Given the description of an element on the screen output the (x, y) to click on. 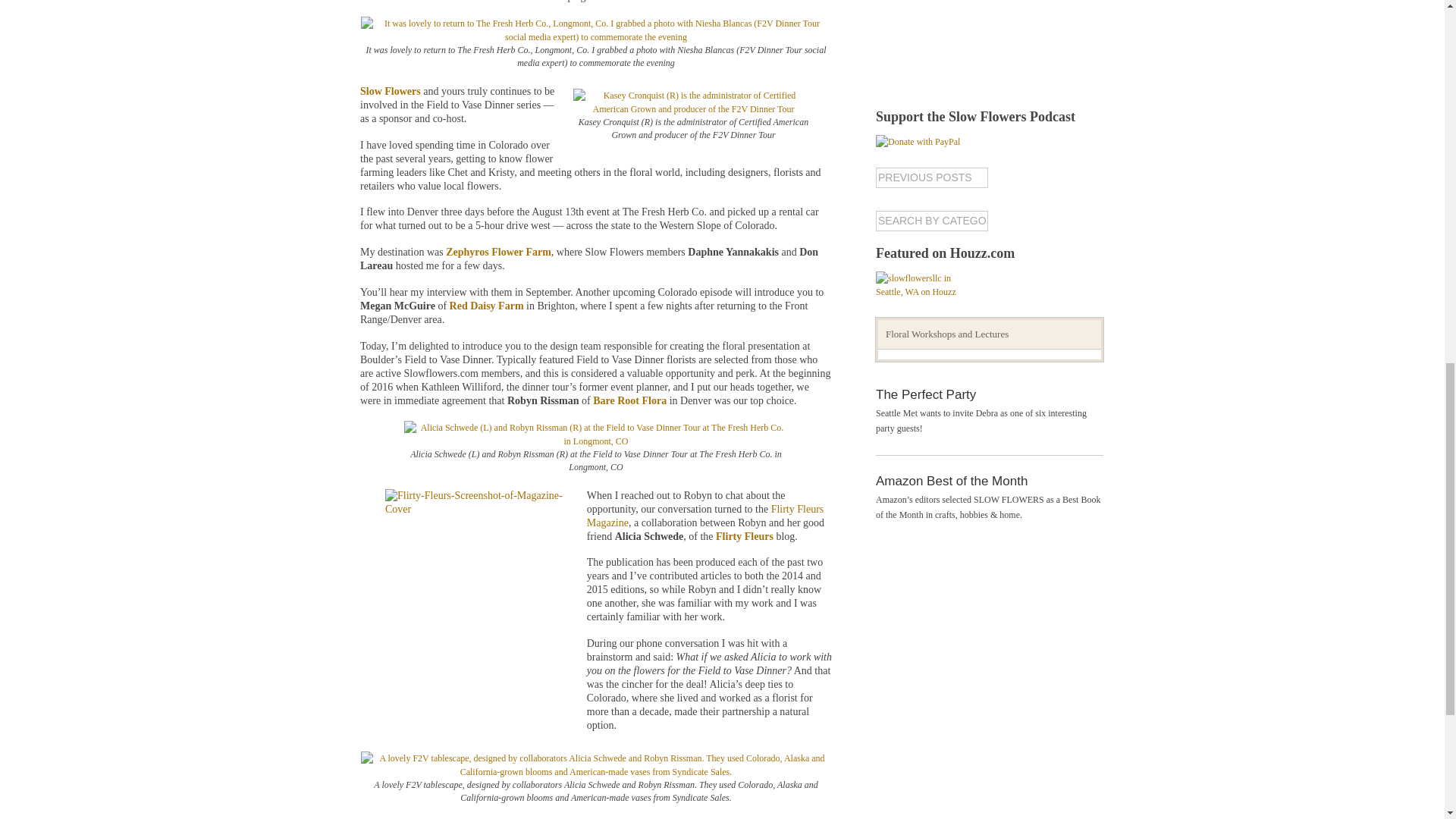
Zephyros Flower Farm (498, 251)
Red Daisy Farm (486, 306)
Bare Root Flora (629, 400)
Slow Flowers (391, 91)
Certified American Grown (486, 1)
